Given the description of an element on the screen output the (x, y) to click on. 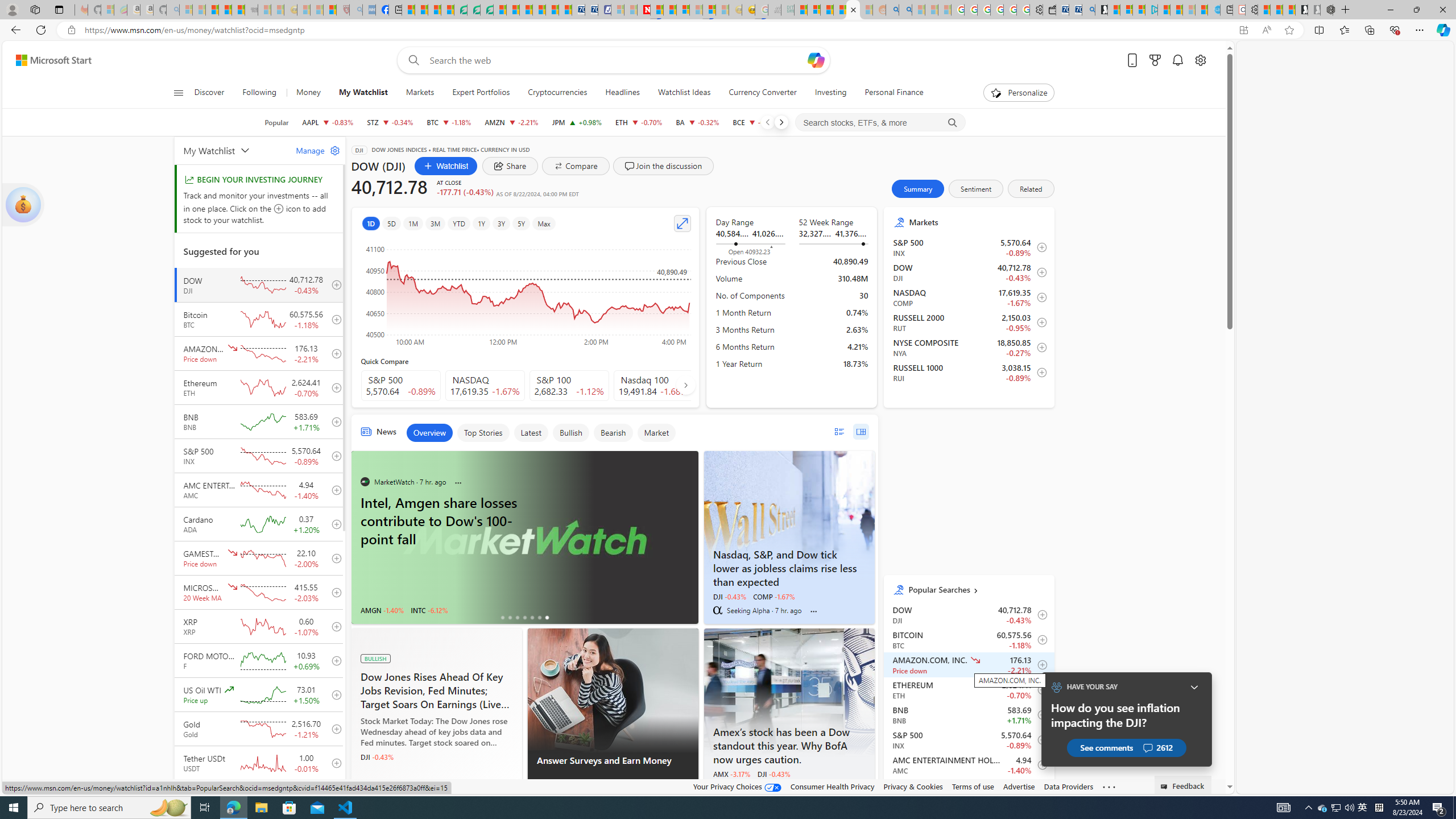
Combat Siege (251, 9)
Summary (917, 188)
Cryptocurrencies (557, 92)
Headlines (622, 92)
Cryptocurrencies (557, 92)
Seeking Alpha (716, 610)
Cheap Hotels - Save70.com (590, 9)
Watchlist Ideas (683, 92)
